Given the description of an element on the screen output the (x, y) to click on. 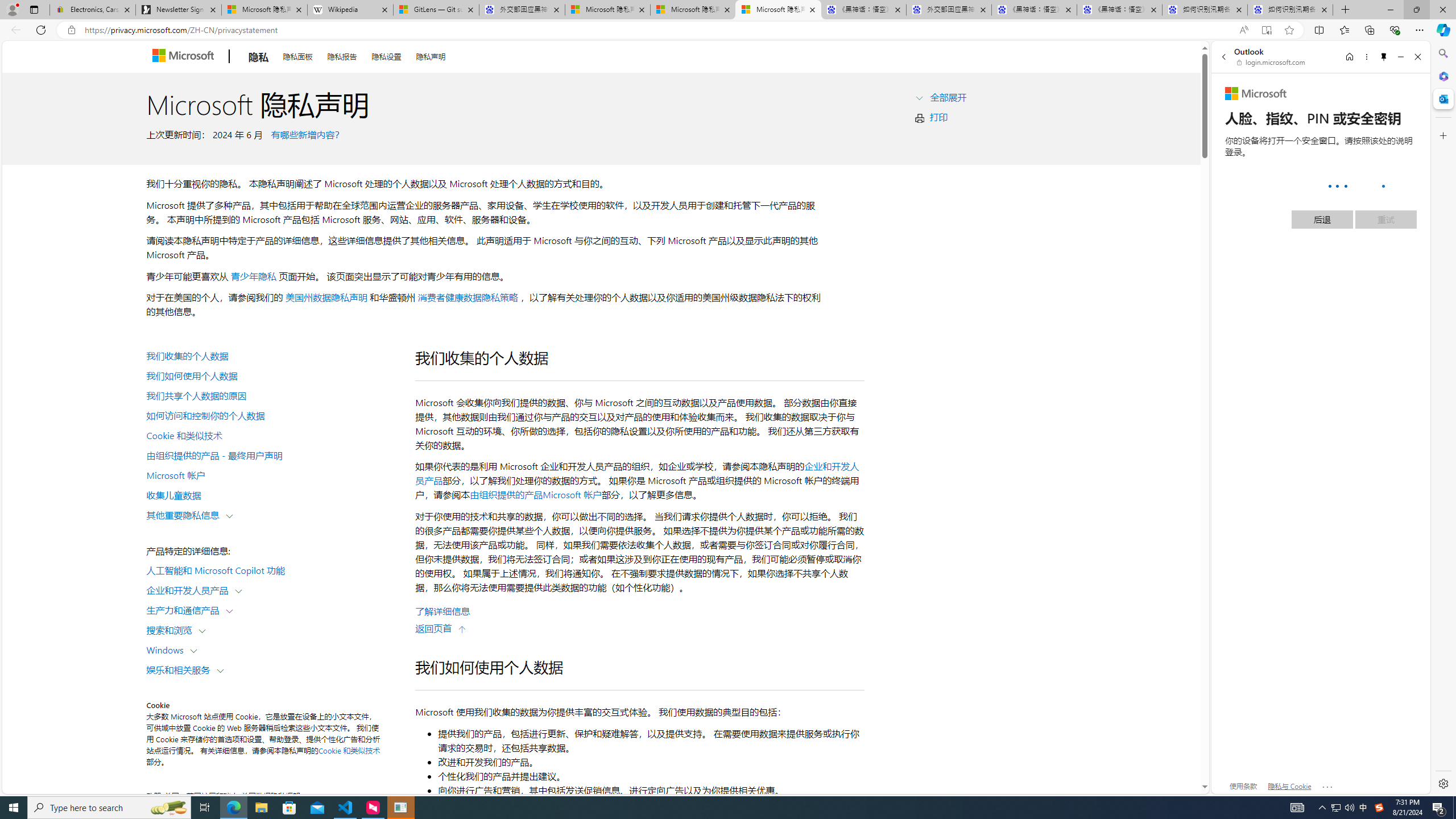
Windows (167, 649)
login.microsoft.com (1271, 61)
